Given the description of an element on the screen output the (x, y) to click on. 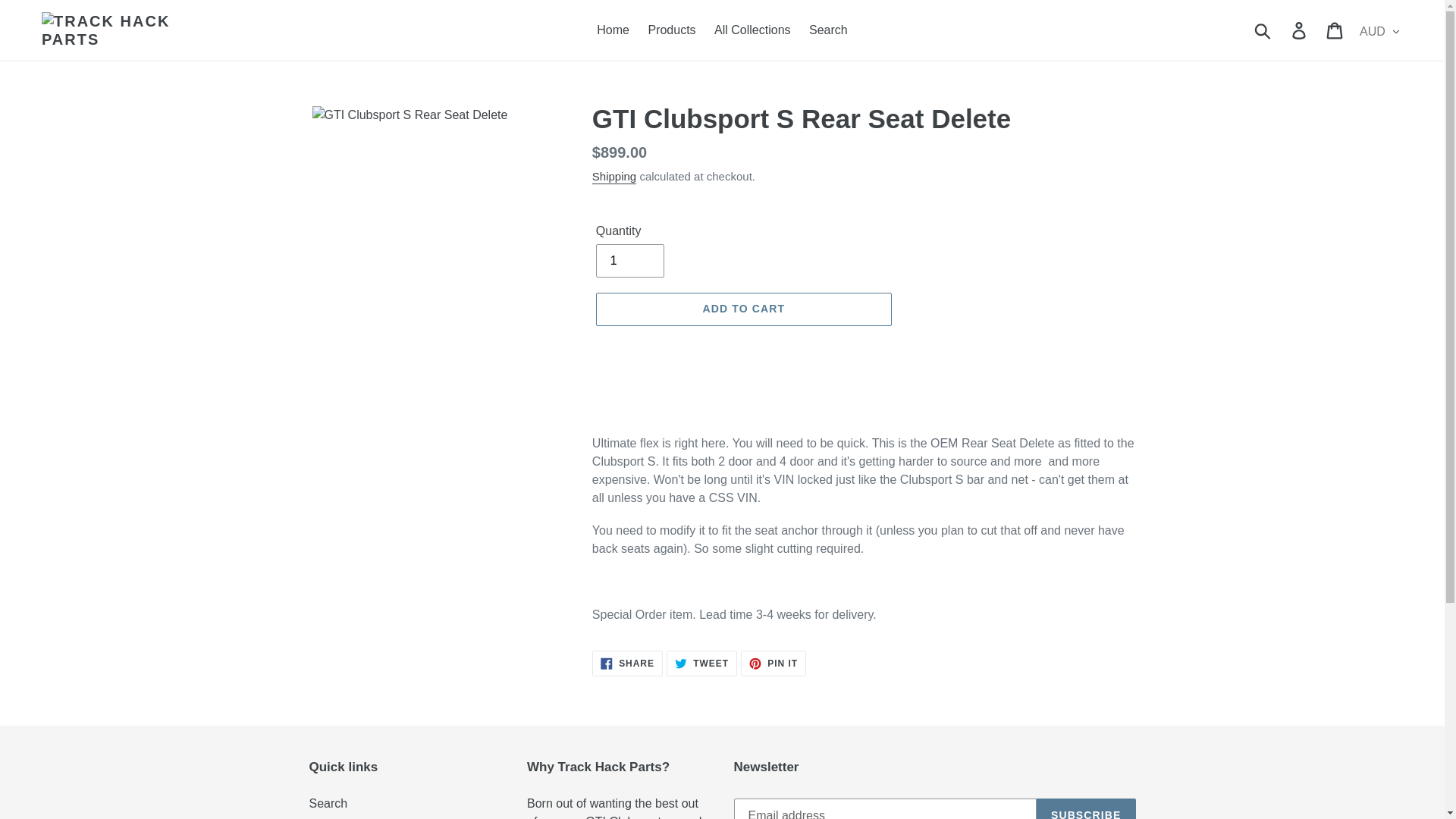
Products (671, 29)
Search (701, 663)
Search (327, 802)
Submit (829, 29)
Shipping (627, 663)
Log in (1263, 29)
1 (614, 176)
SUBSCRIBE (1299, 29)
ADD TO CART (629, 260)
Home (1085, 808)
Cart (743, 308)
All Collections (773, 663)
